Given the description of an element on the screen output the (x, y) to click on. 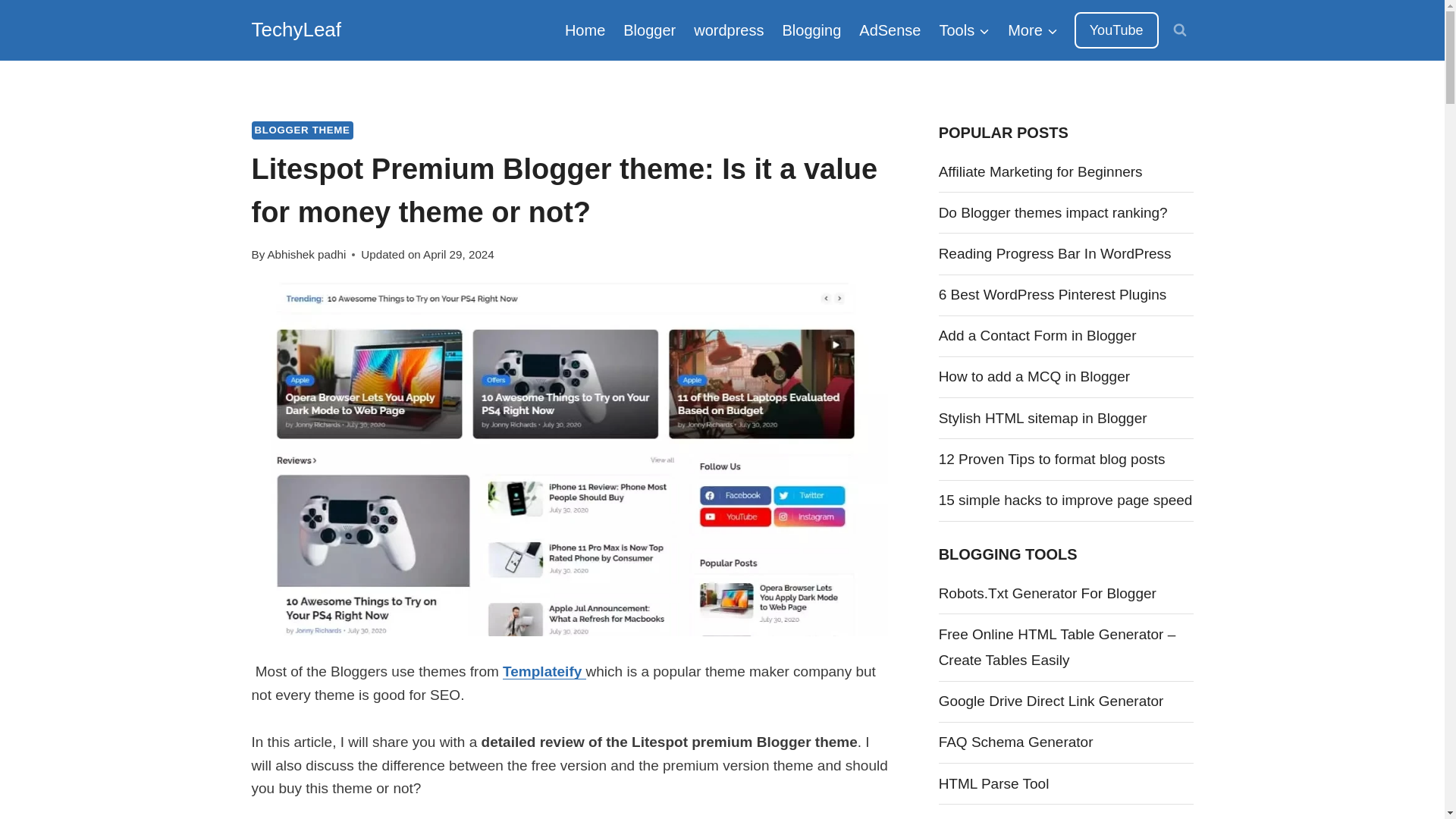
TechyLeaf (296, 29)
YouTube (1116, 29)
wordpress (728, 30)
Blogger (649, 30)
Templateify (543, 671)
Abhishek padhi (306, 254)
BLOGGER THEME (302, 130)
Tools (964, 30)
AdSense (890, 30)
Blogging (811, 30)
